Given the description of an element on the screen output the (x, y) to click on. 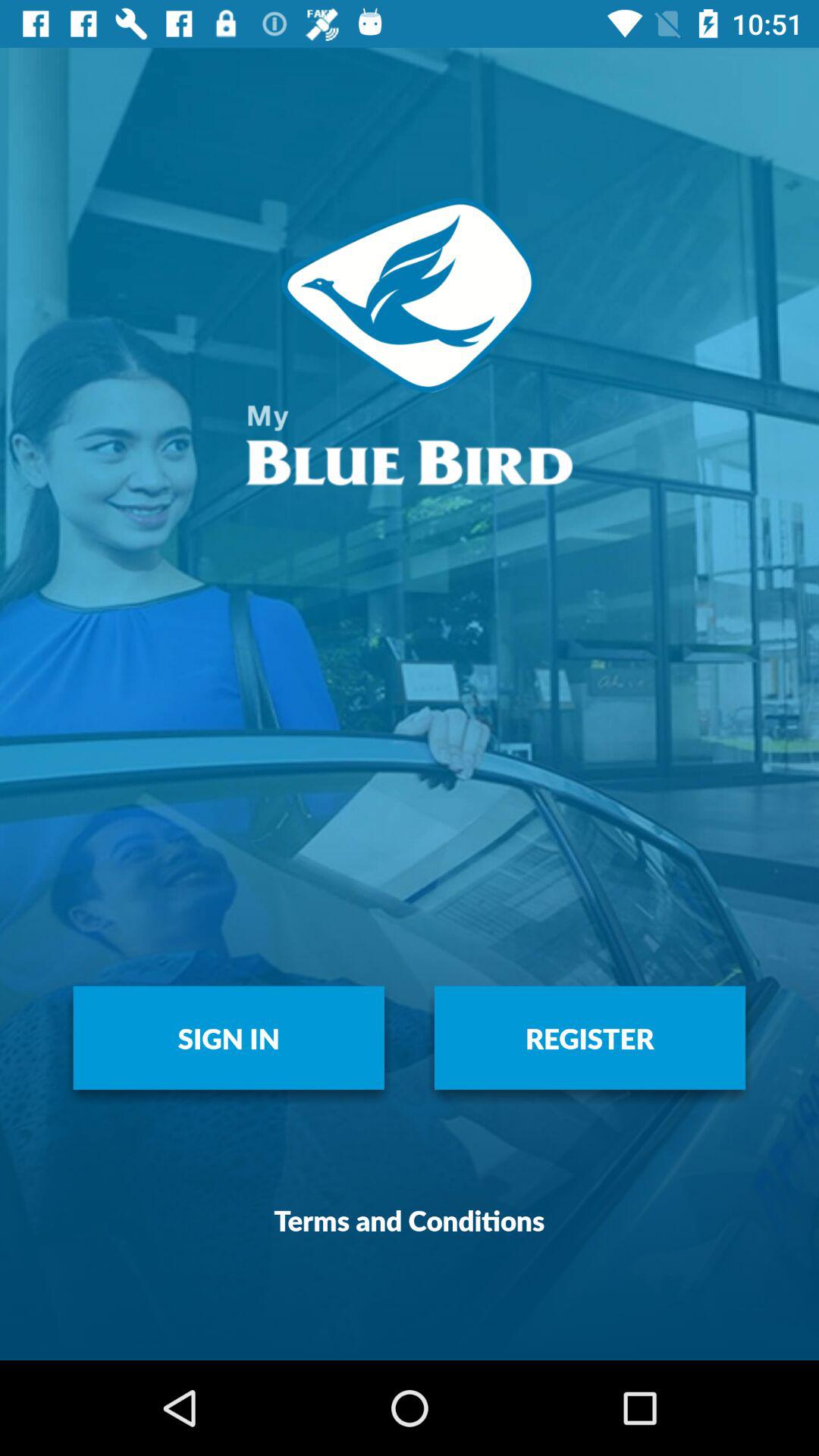
tap the icon to the right of the sign in icon (589, 1037)
